Given the description of an element on the screen output the (x, y) to click on. 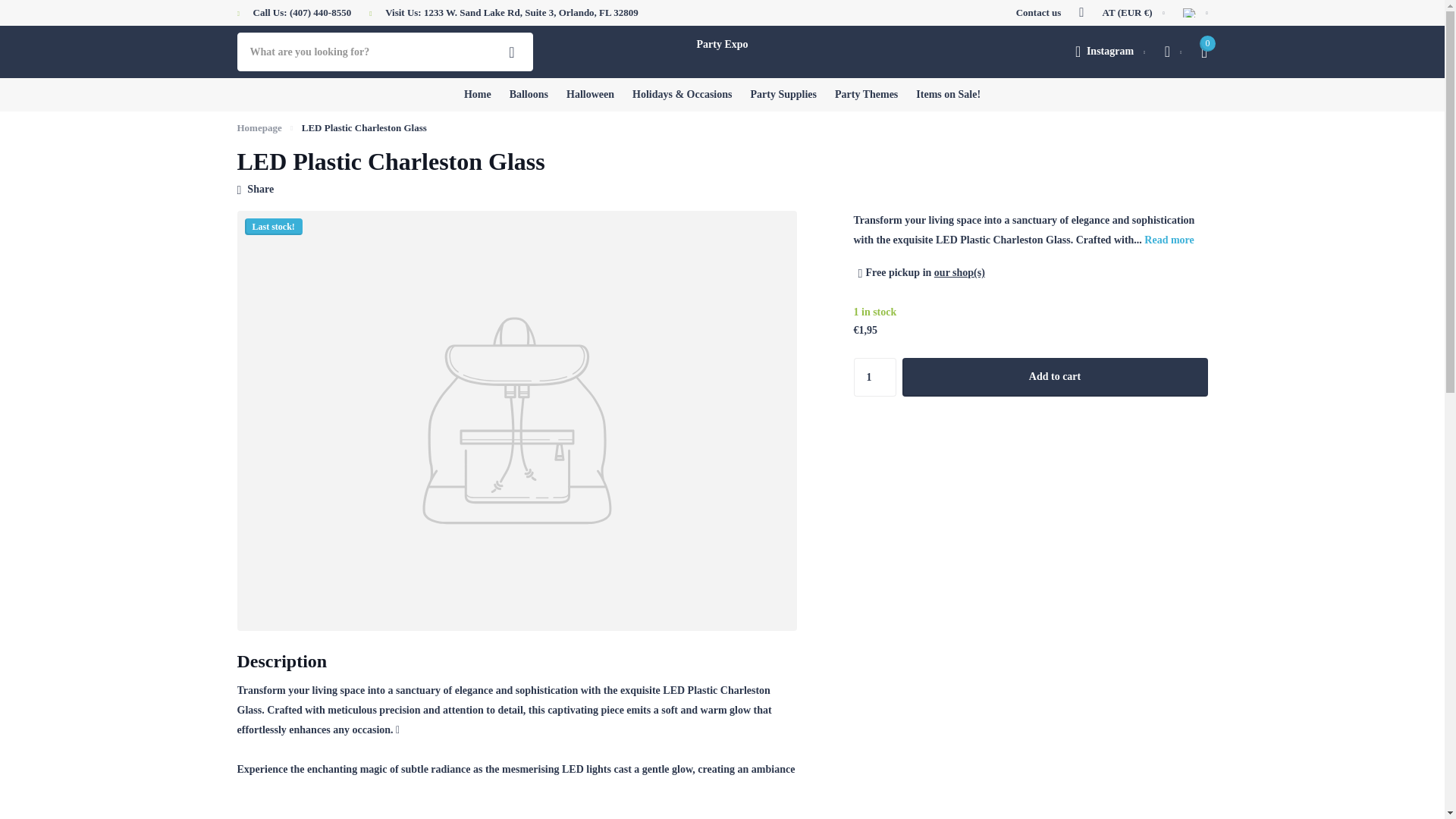
Home (258, 127)
1 (874, 376)
Contact us (1038, 12)
